Given the description of an element on the screen output the (x, y) to click on. 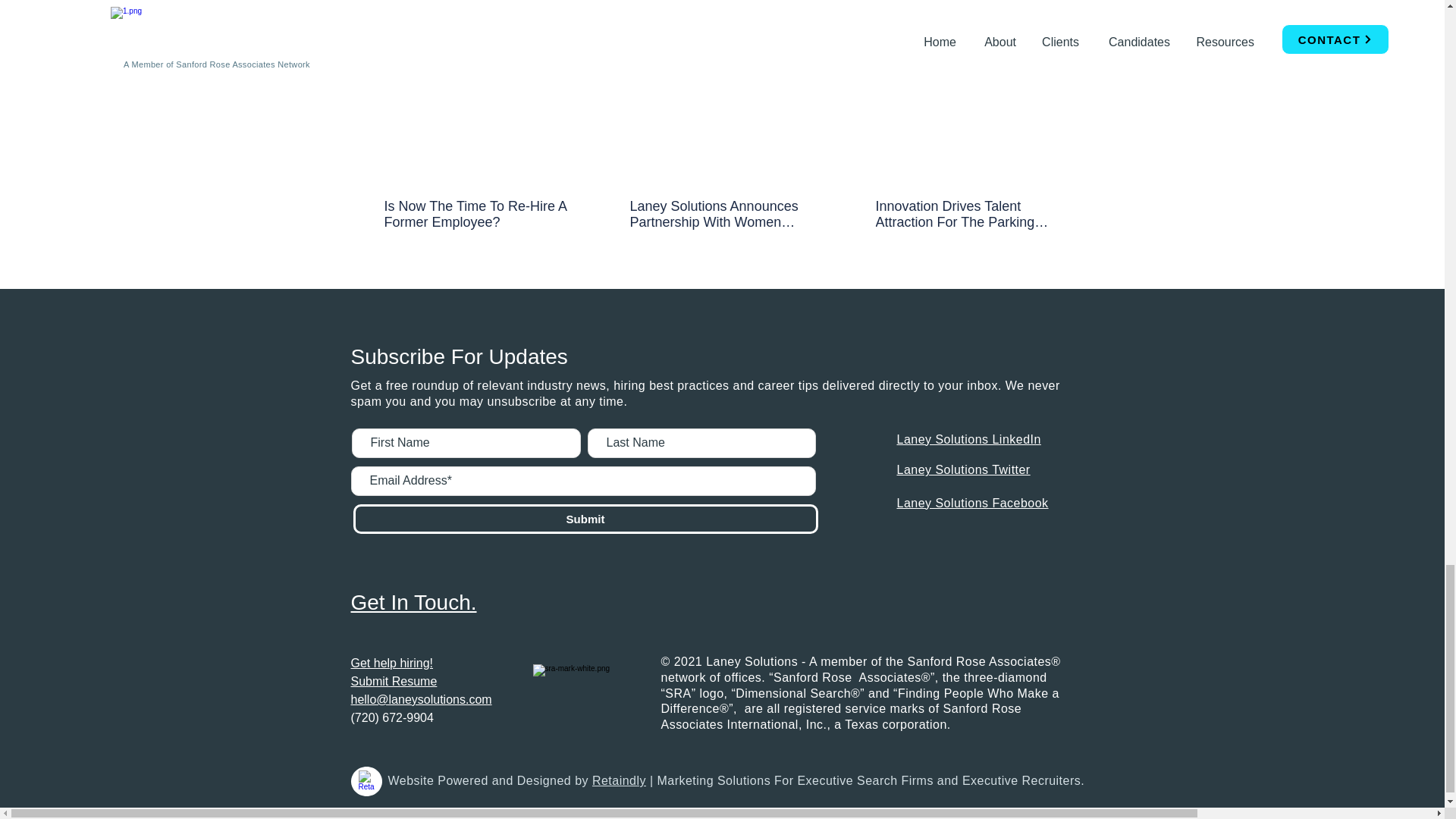
Get In Touch. (413, 602)
Submit (585, 518)
Is Now The Time To Re-Hire A Former Employee? (475, 214)
Innovation Drives Talent Attraction For The Parking Industry (966, 214)
Laney Solutions Facebook (972, 502)
See All (1061, 30)
Laney Solutions LinkedIn (968, 439)
Laney Solutions Twitter (962, 469)
